Given the description of an element on the screen output the (x, y) to click on. 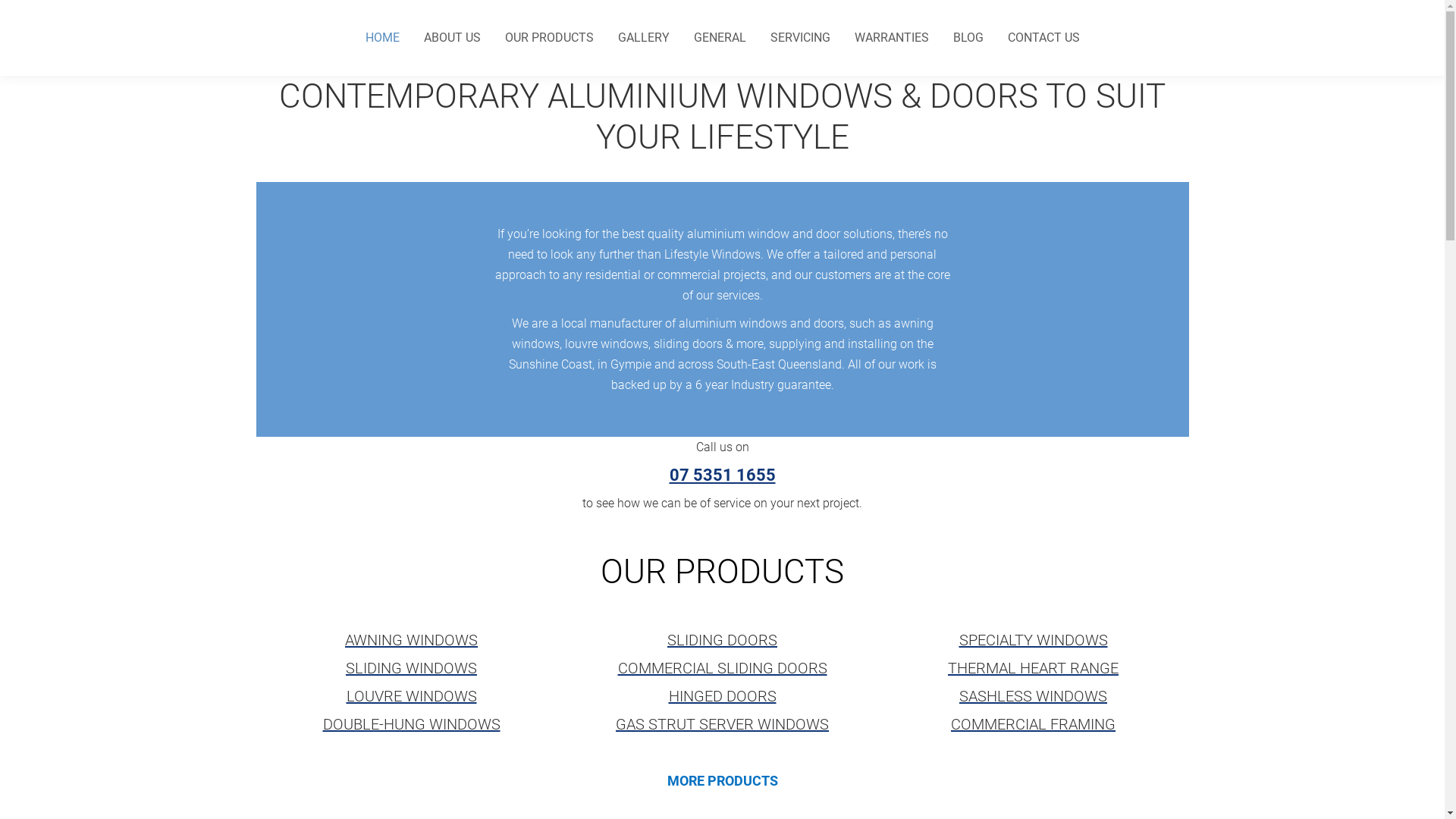
GALLERY Element type: text (642, 37)
AWNING WINDOWS Element type: text (411, 639)
SASHLESS WINDOWS Element type: text (1033, 696)
HINGED DOORS Element type: text (722, 696)
WARRANTIES Element type: text (890, 37)
THERMAL HEART RANGE Element type: text (1032, 667)
BLOG Element type: text (967, 37)
ABOUT US Element type: text (451, 37)
GAS STRUT SERVER WINDOWS Element type: text (721, 724)
COMMERCIAL SLIDING DOORS Element type: text (721, 667)
MORE PRODUCTS Element type: text (722, 780)
SPECIALTY WINDOWS Element type: text (1032, 639)
GENERAL Element type: text (719, 37)
SLIDING DOORS Element type: text (722, 639)
DOUBLE-HUNG WINDOWS Element type: text (411, 724)
CONTACT US Element type: text (1043, 37)
SLIDING WINDOWS Element type: text (410, 667)
SERVICING Element type: text (800, 37)
OUR PRODUCTS Element type: text (549, 37)
COMMERCIAL FRAMING Element type: text (1032, 724)
LOUVRE WINDOWS Element type: text (410, 696)
HOME Element type: text (382, 37)
07 5351 1655 Element type: text (721, 474)
